Given the description of an element on the screen output the (x, y) to click on. 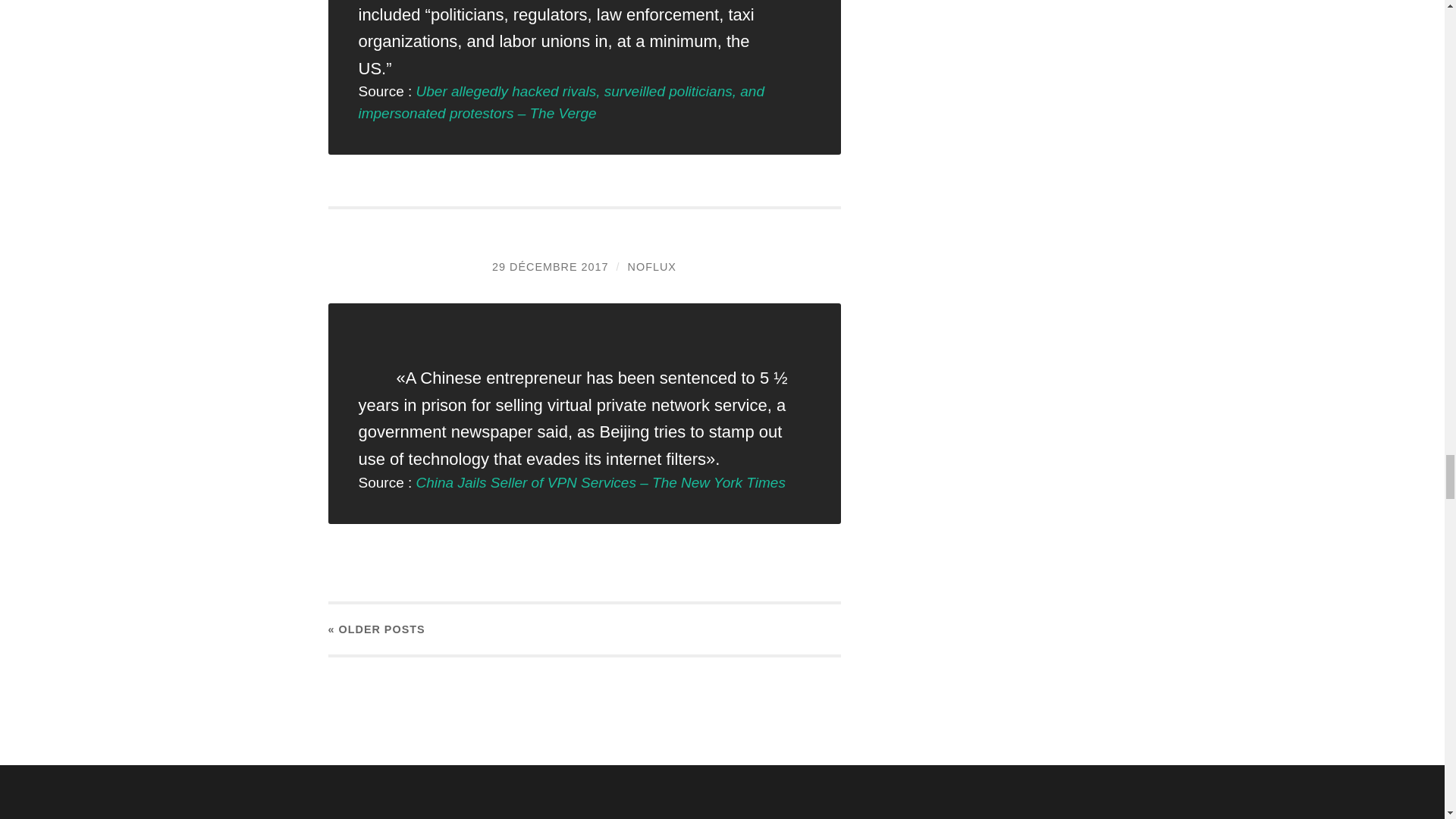
NOFLUX (652, 266)
Articles par noflux (652, 266)
